Given the description of an element on the screen output the (x, y) to click on. 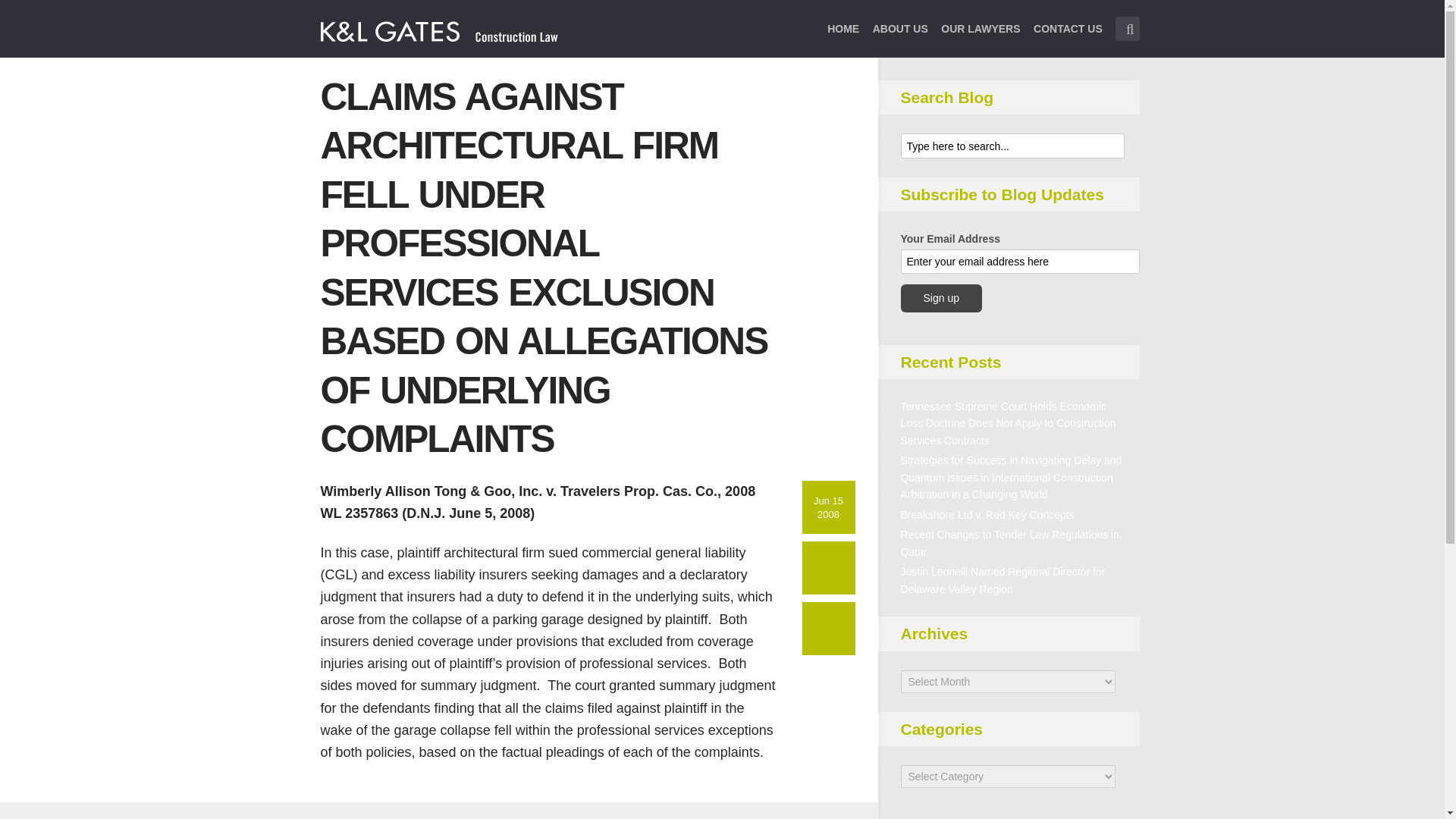
Construction Law (440, 30)
ABOUT US (900, 37)
Type here to search... (1126, 28)
Recent Changes to Tender Law Regulations in Qatar (1010, 542)
Enter your email address here (1020, 261)
Breakshore Ltd v. Red Key Concepts (987, 514)
Sign up (941, 298)
Sign up (941, 298)
Type here to search... (1126, 28)
Type here to search... (1012, 145)
CONTACT US (1067, 37)
